Given the description of an element on the screen output the (x, y) to click on. 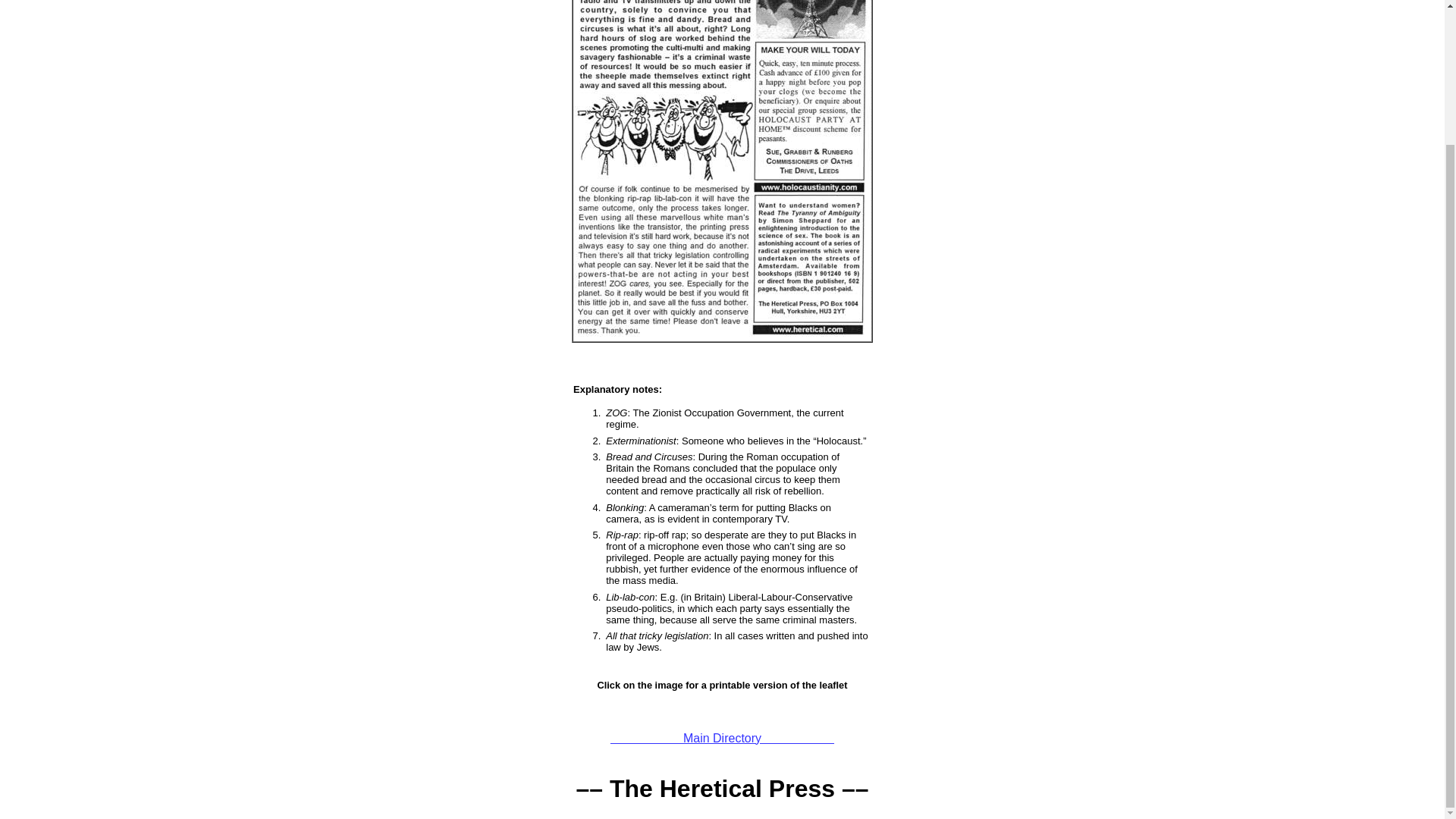
Main Directory (722, 737)
